Given the description of an element on the screen output the (x, y) to click on. 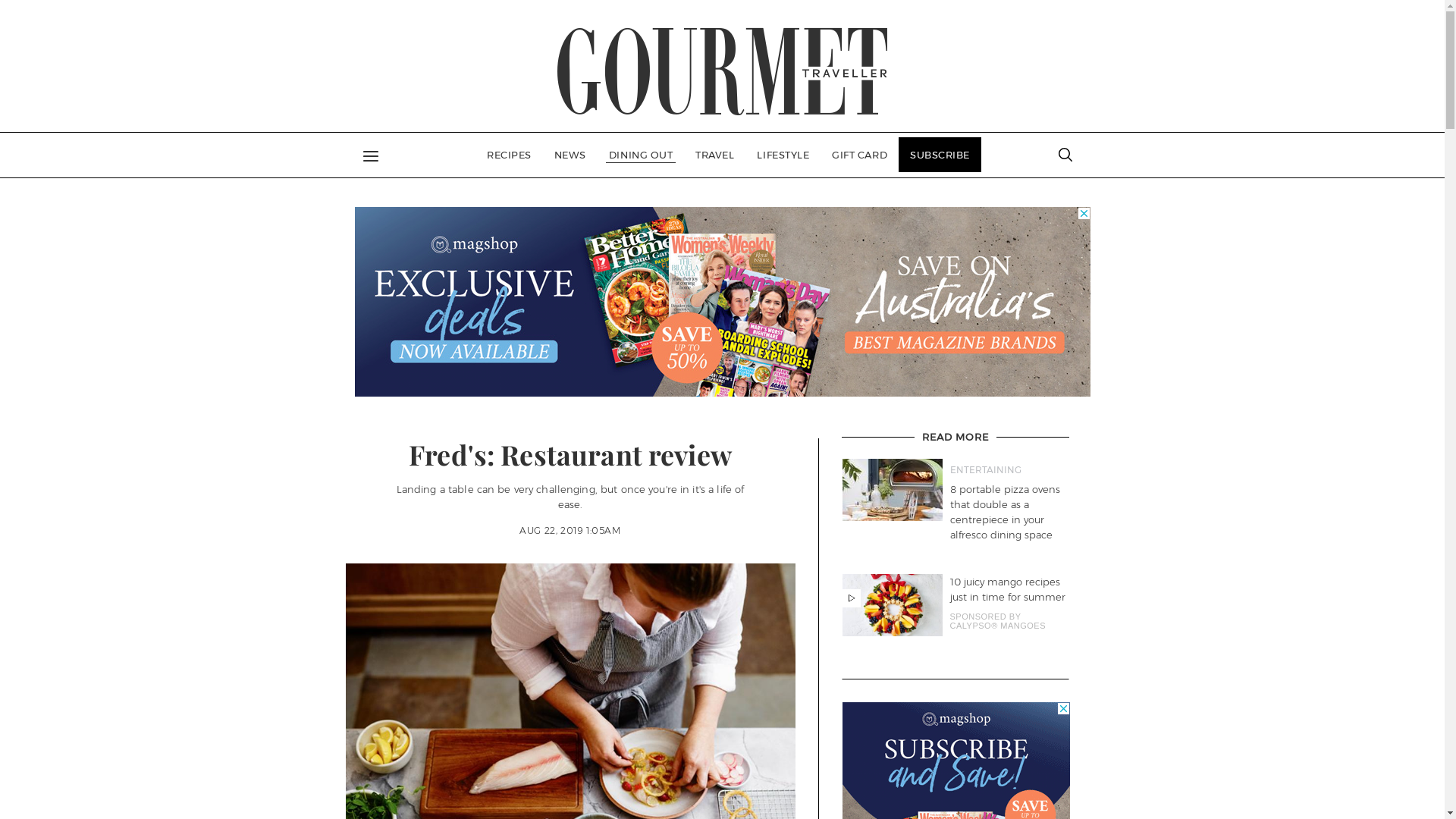
ENTERTAINING Element type: text (1008, 469)
SUBSCRIBE Element type: text (939, 154)
TRAVEL Element type: text (714, 154)
3rd party ad content Element type: hover (722, 301)
GIFT CARD Element type: text (859, 154)
NEWS Element type: text (569, 154)
10 juicy mango recipes just in time for summer Element type: text (1008, 589)
DINING OUT Element type: text (640, 154)
RECIPES Element type: text (508, 154)
LIFESTYLE Element type: text (782, 154)
